Given the description of an element on the screen output the (x, y) to click on. 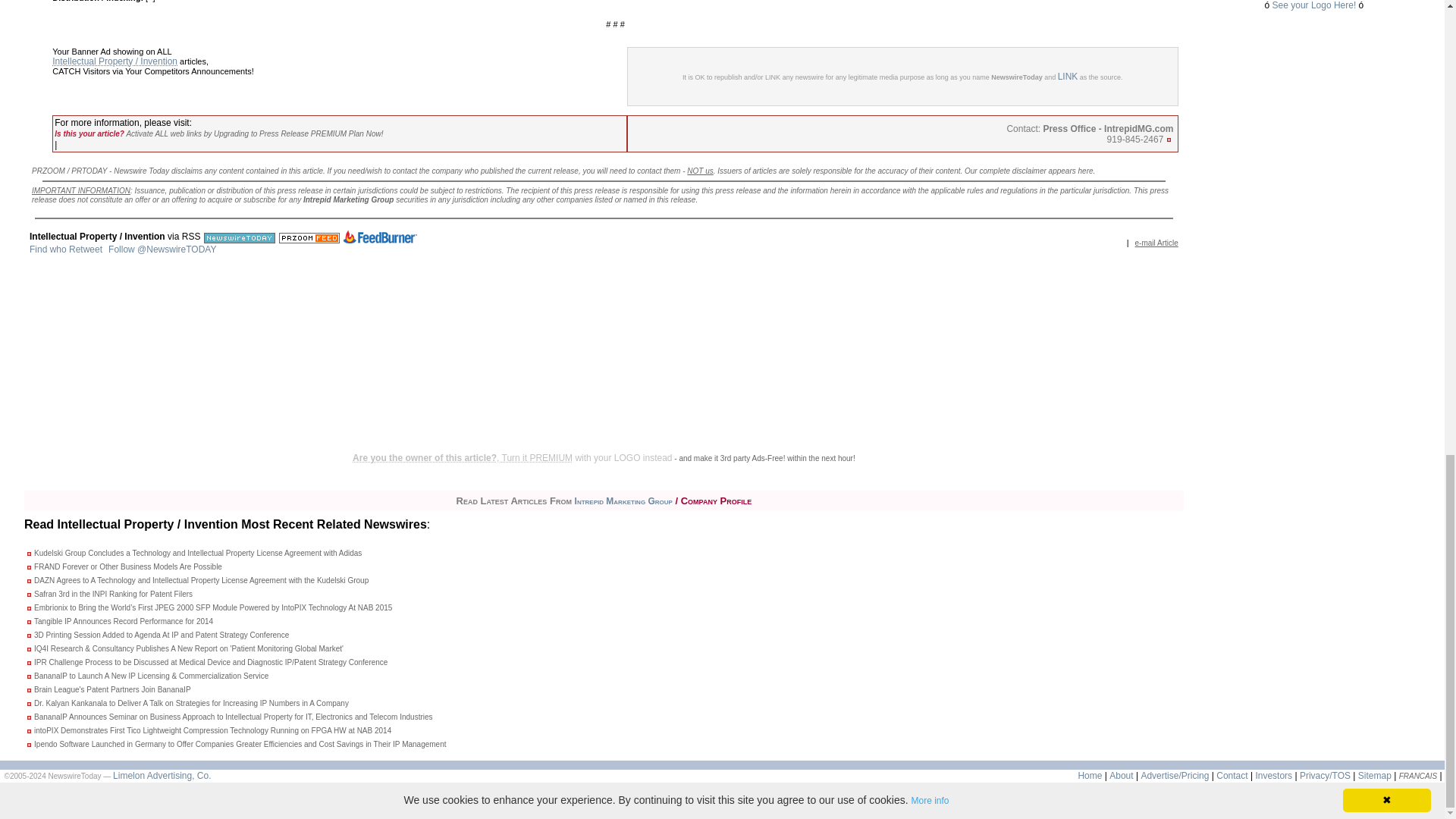
here (1085, 170)
LINK (1068, 76)
Find who Retweet (65, 249)
e-mail Article (1156, 242)
